Given the description of an element on the screen output the (x, y) to click on. 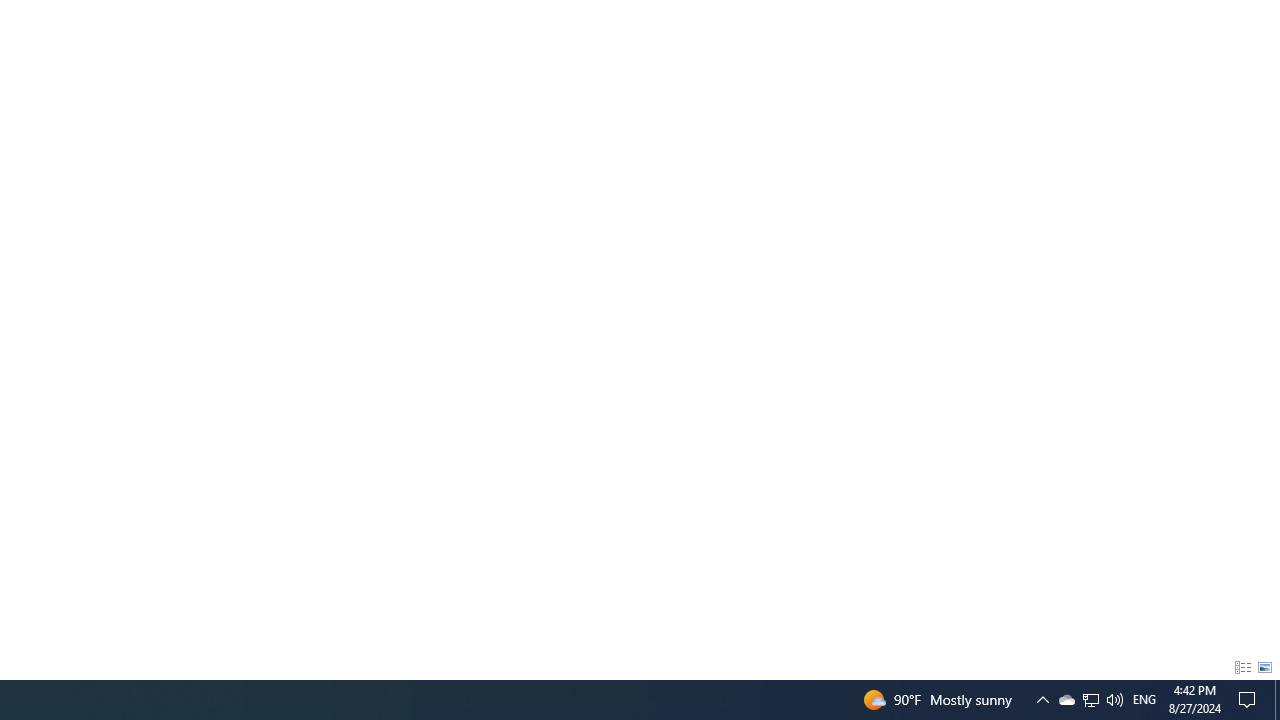
Tray Input Indicator - English (United States) (1144, 699)
Large Icons (1265, 667)
Details (1242, 667)
